Given the description of an element on the screen output the (x, y) to click on. 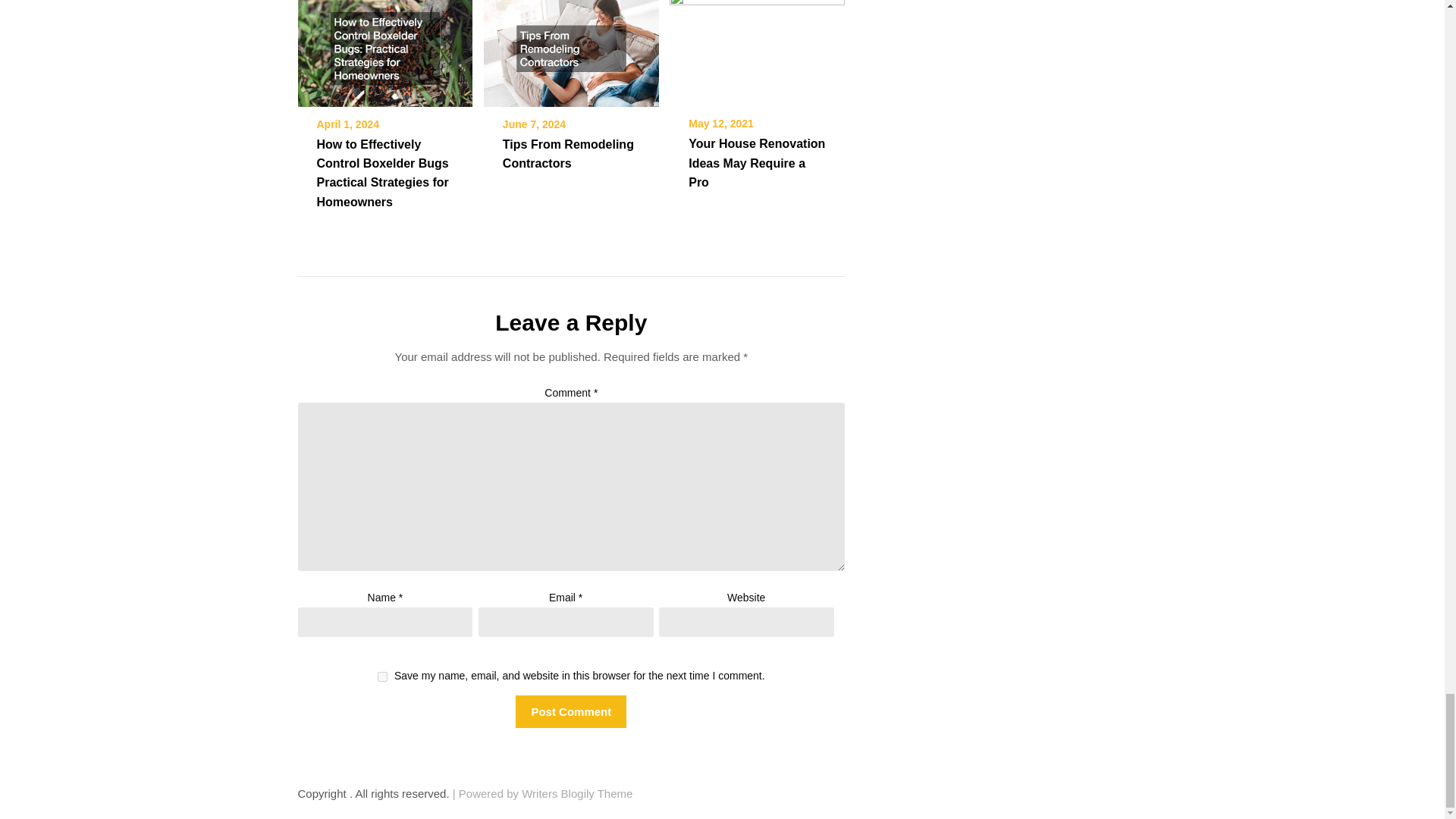
Post Comment (570, 711)
Your House Renovation Ideas May Require a Pro (756, 162)
Tips From Remodeling Contractors (571, 42)
yes (382, 676)
Tips From Remodeling Contractors (567, 153)
Your House Renovation Ideas May Require a Pro (756, 42)
Post Comment (570, 711)
